Given the description of an element on the screen output the (x, y) to click on. 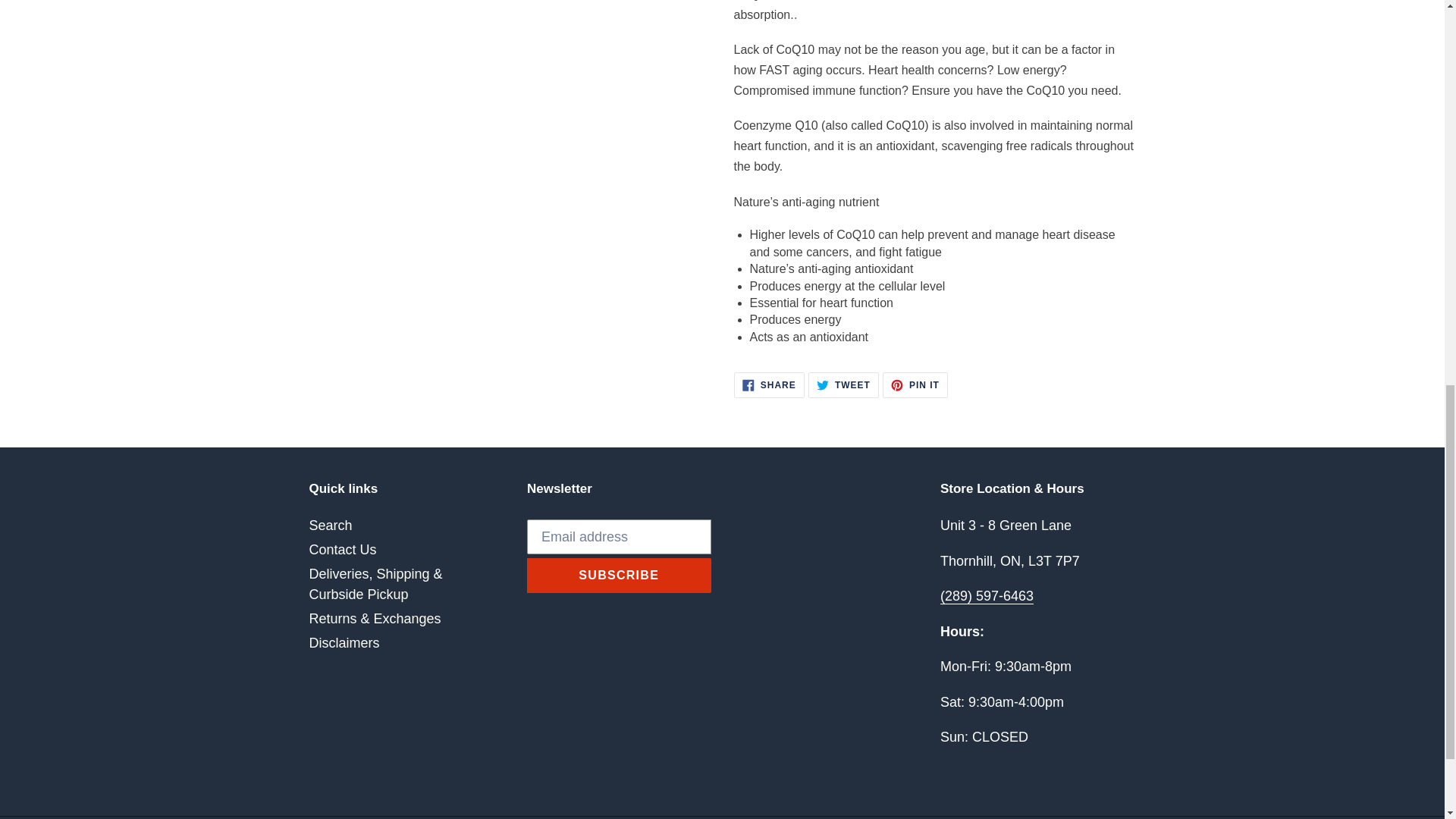
Search (330, 525)
SUBSCRIBE (619, 574)
Contact Us (843, 385)
Disclaimers (914, 385)
